Given the description of an element on the screen output the (x, y) to click on. 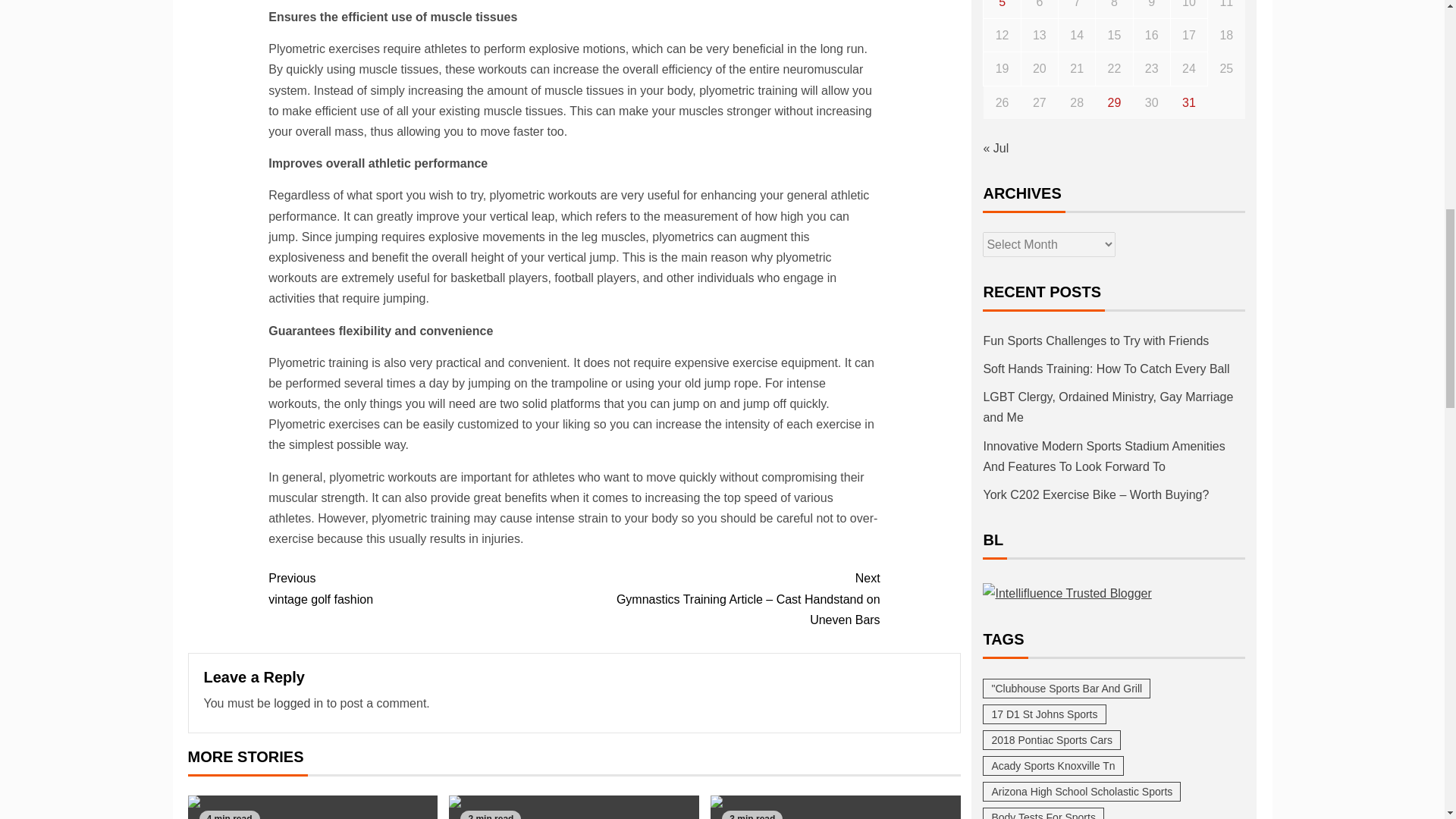
logged in (420, 588)
How to Choose Your Next Adventure (298, 703)
Fun Sports Challenges to Try with Friends (835, 807)
